Given the description of an element on the screen output the (x, y) to click on. 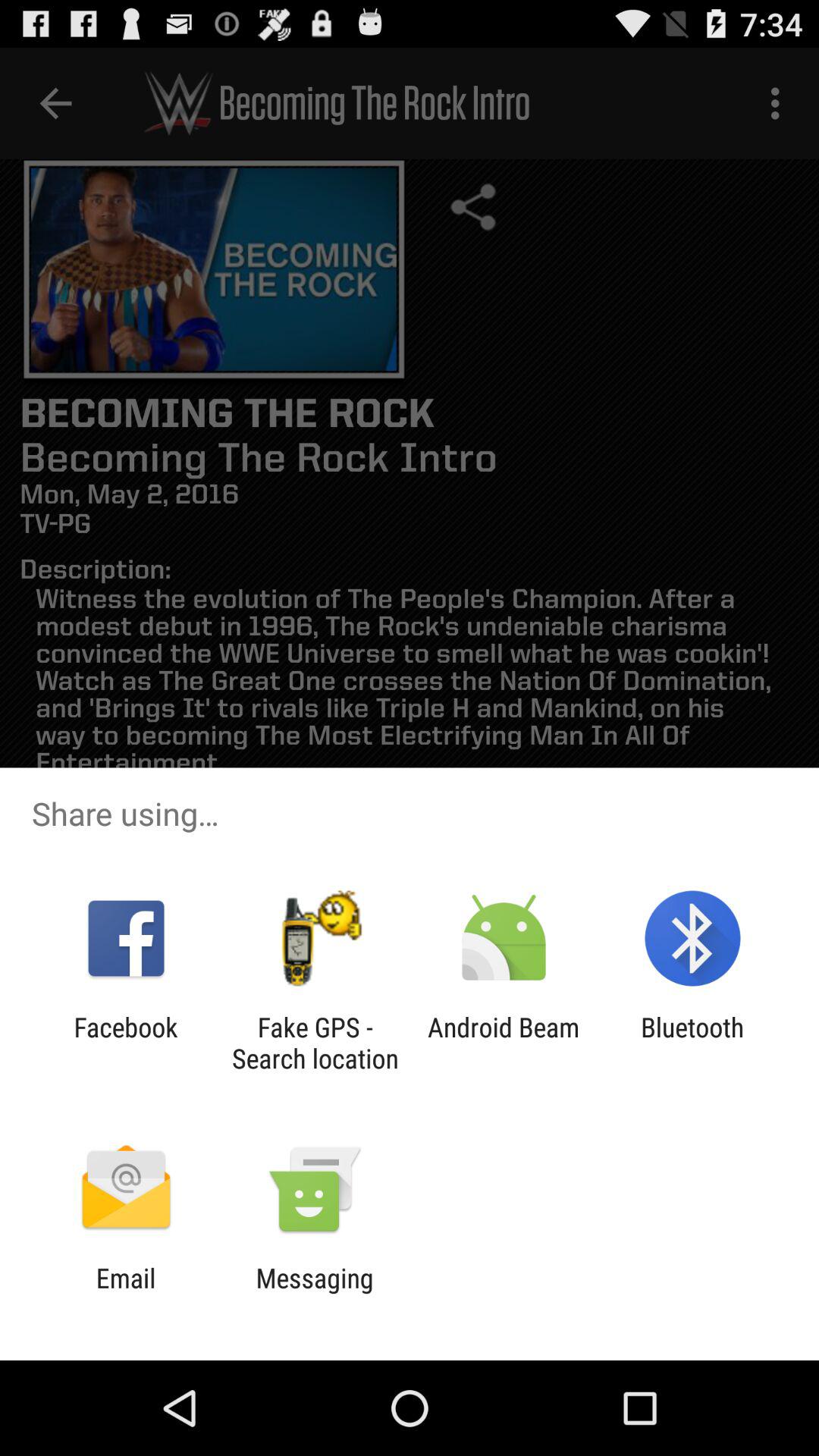
choose the facebook item (125, 1042)
